Given the description of an element on the screen output the (x, y) to click on. 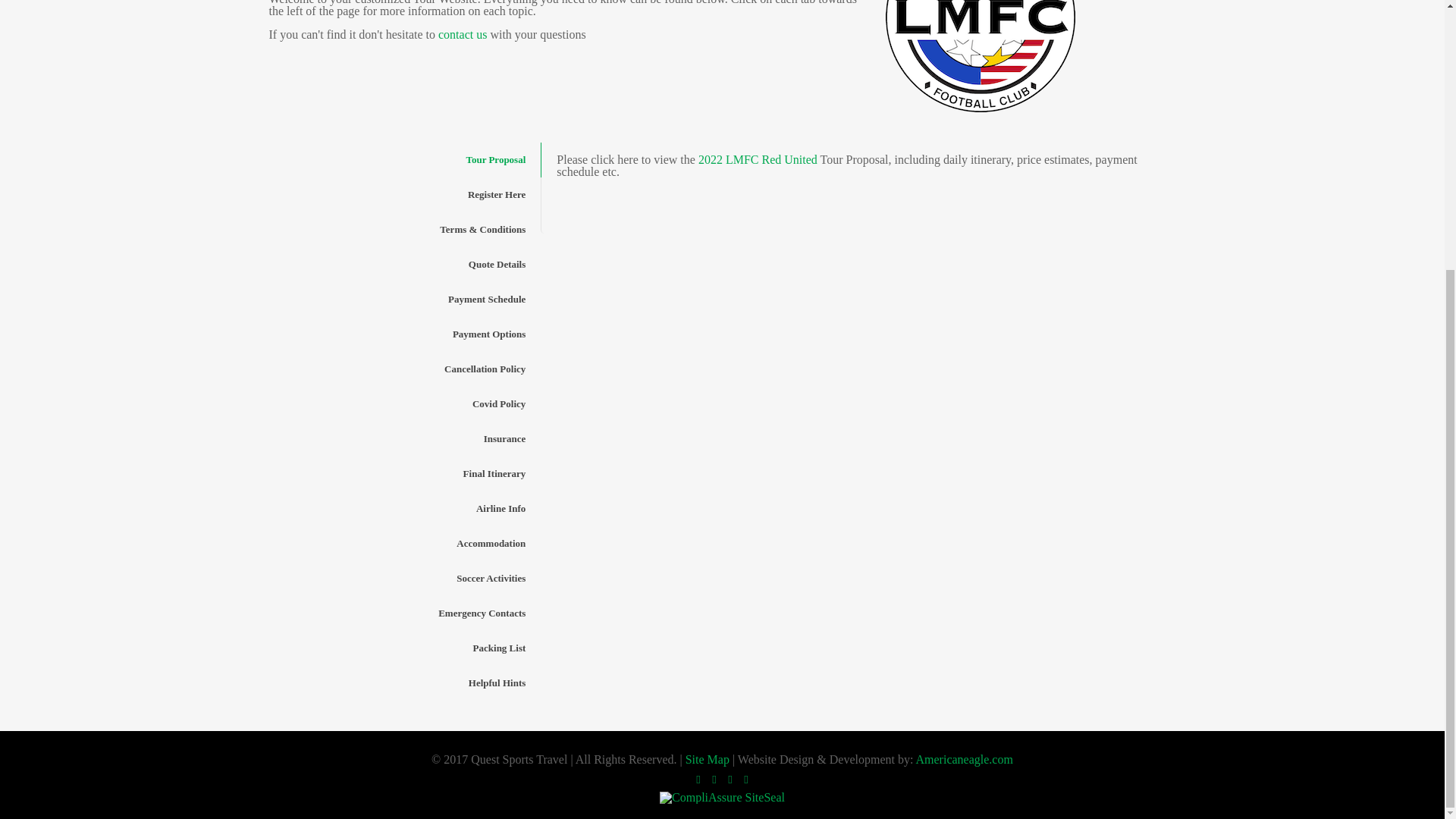
Payment Options (403, 334)
Cancellation Policy (403, 369)
Insurance (403, 438)
contact us (462, 33)
Instagram (745, 779)
Covid Policy (403, 403)
YouTube (730, 779)
Airline Info (403, 508)
Quote Details (403, 264)
Facebook (698, 779)
Accommodation (403, 543)
Register Here (403, 194)
Payment Schedule (403, 298)
Soccer Activities (403, 578)
Final Itinerary (403, 473)
